Given the description of an element on the screen output the (x, y) to click on. 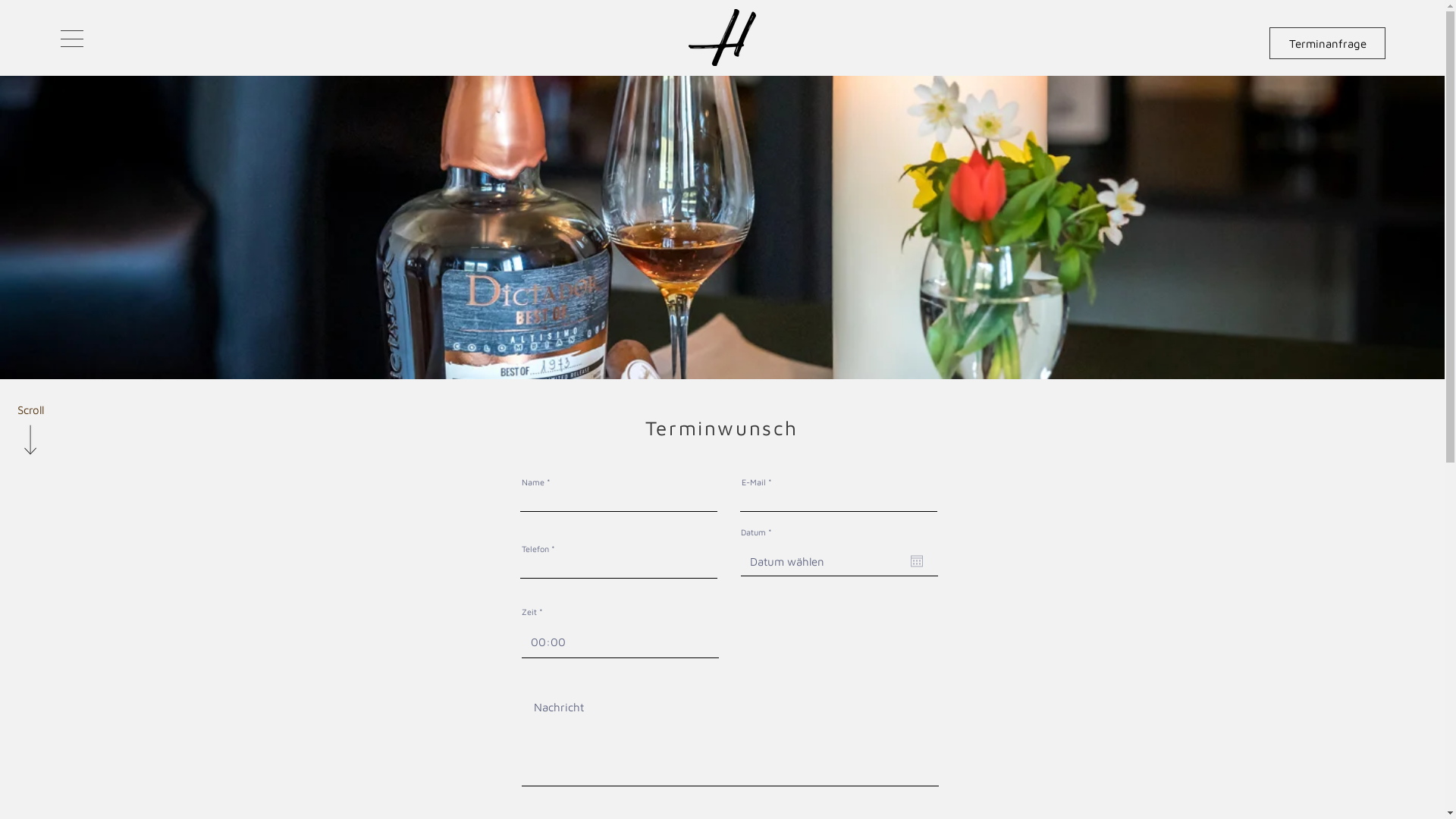
Scroll Element type: text (30, 409)
Terminanfrage Element type: text (1327, 43)
